Given the description of an element on the screen output the (x, y) to click on. 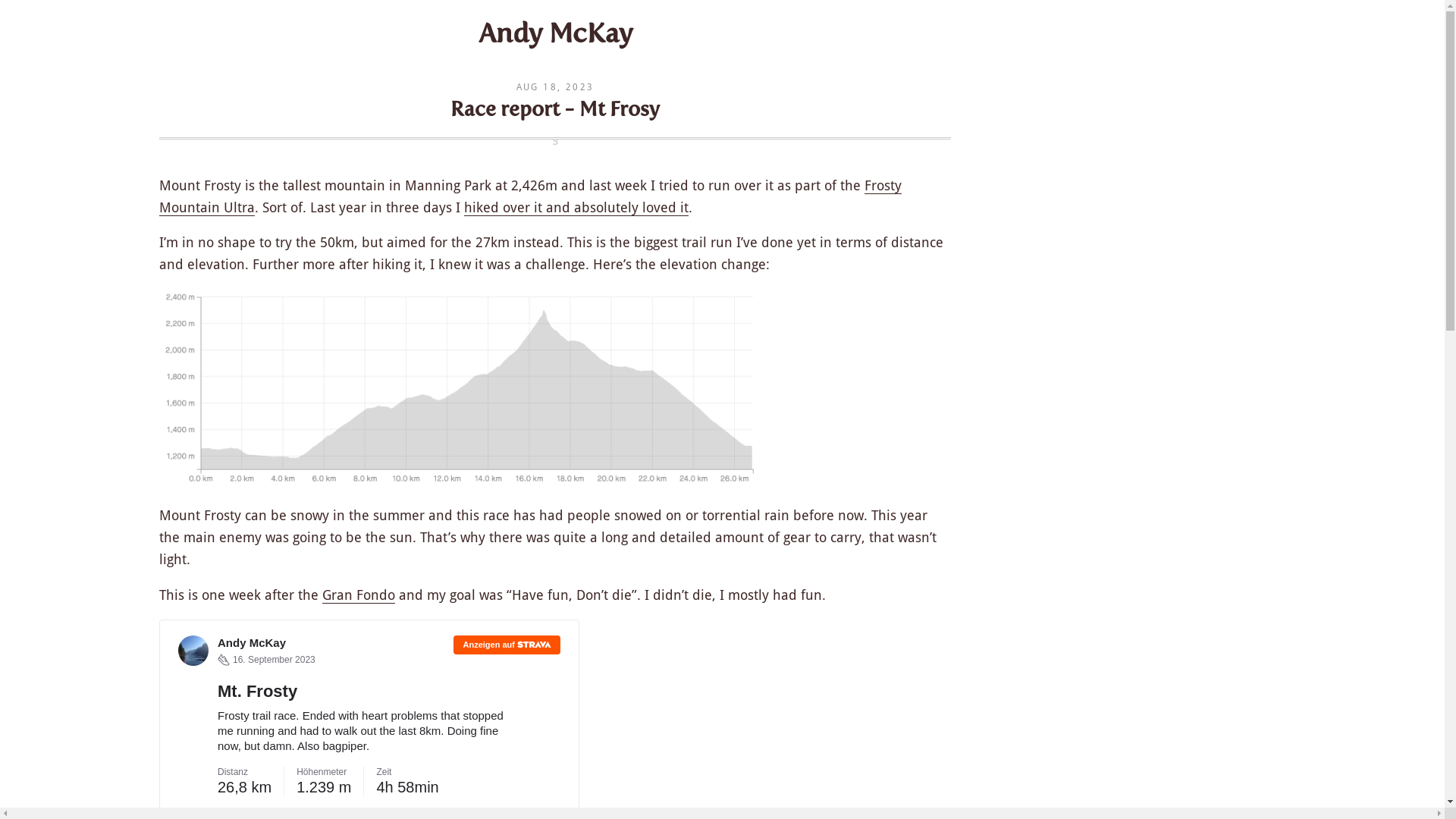
Frosty Mountain Ultra Element type: text (530, 196)
Gran Fondo Element type: text (358, 594)
hiked over it and absolutely loved it Element type: text (576, 206)
Race report - Mt Frosy Element type: text (554, 108)
Andy McKay Element type: text (554, 32)
